Given the description of an element on the screen output the (x, y) to click on. 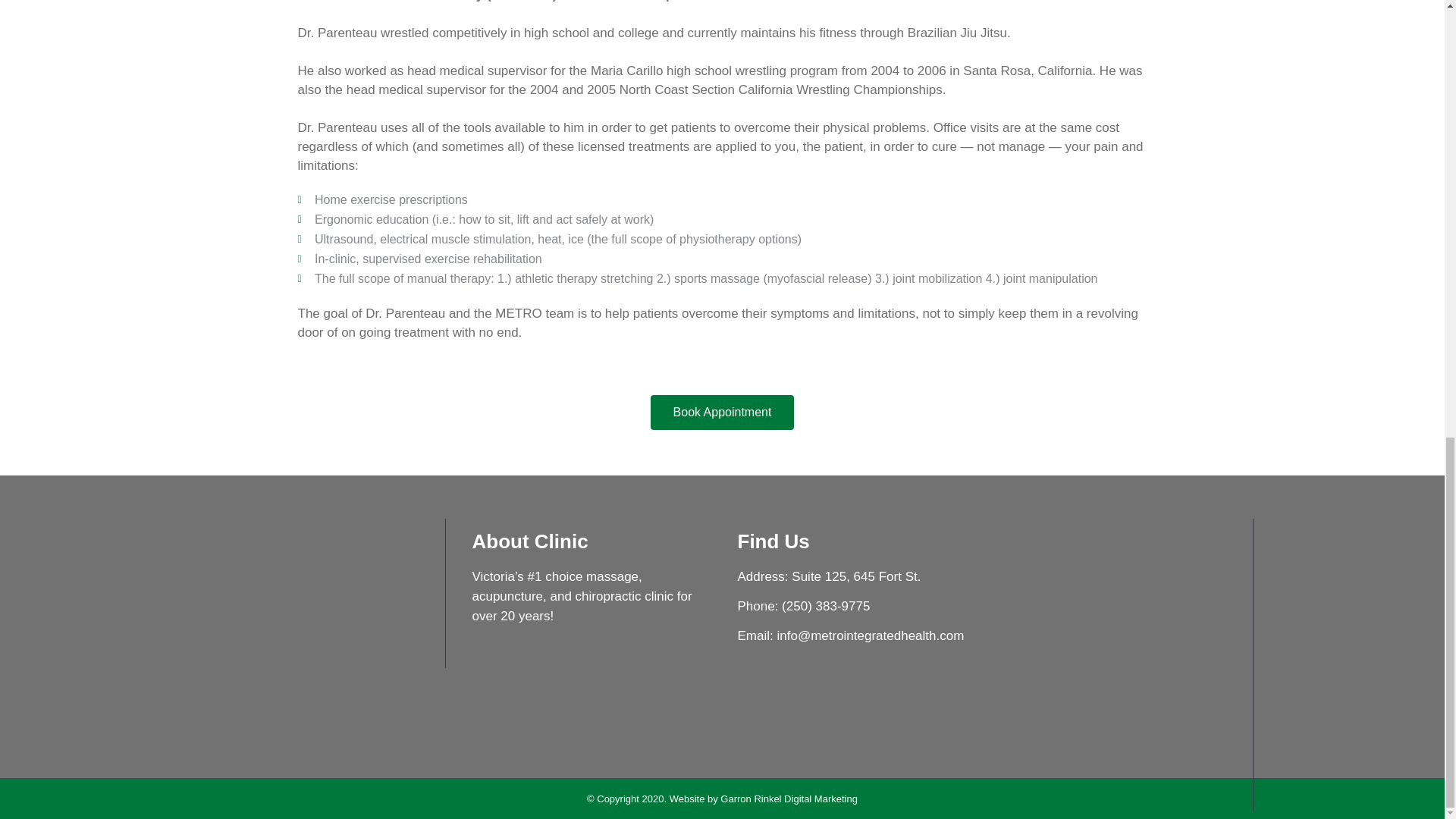
Garron Rinkel Digital Marketing (788, 798)
Book Appointment (722, 411)
Suite 125, 645 Fort St. (856, 576)
